Given the description of an element on the screen output the (x, y) to click on. 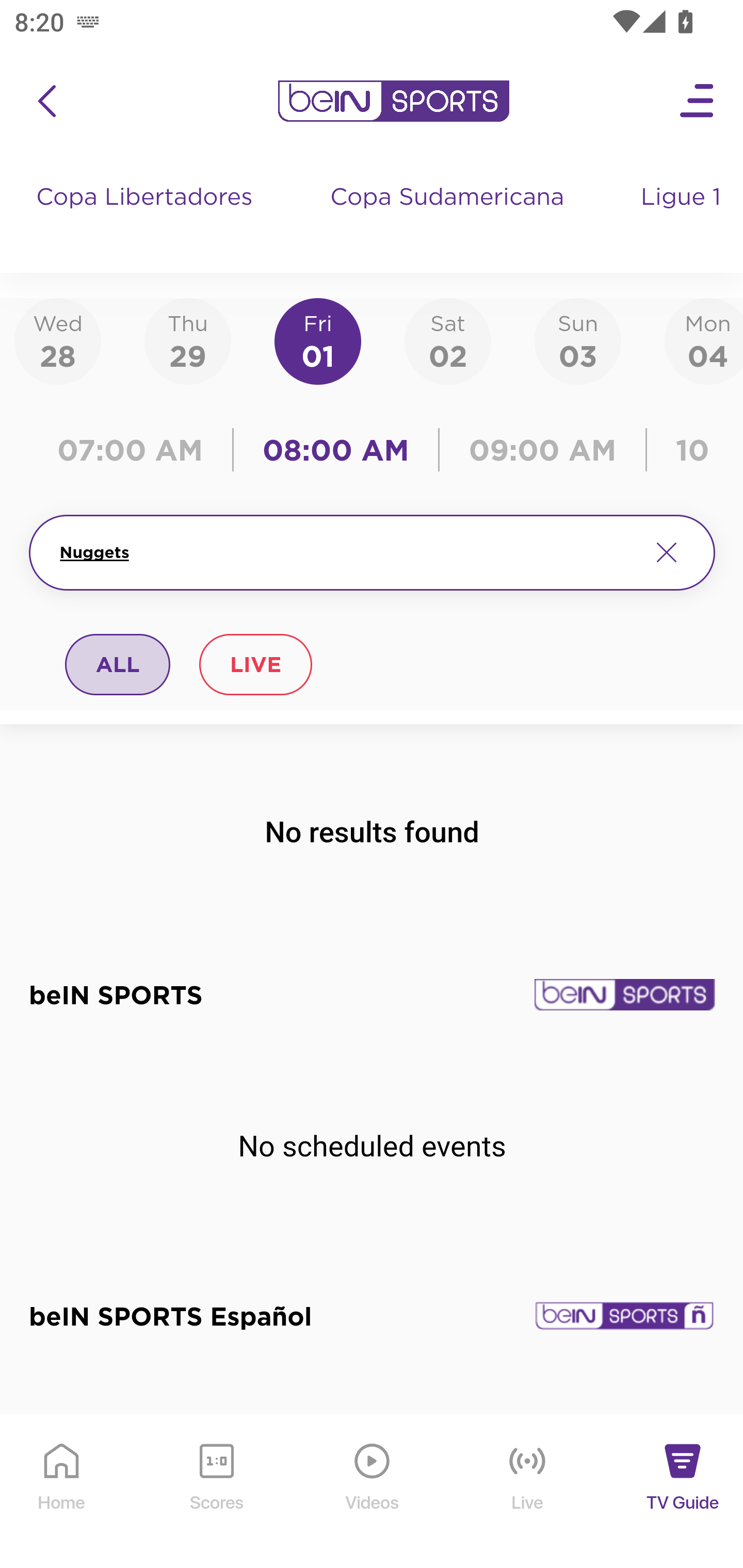
en-us?platform=mobile_android bein logo (392, 101)
icon back (46, 101)
Open Menu Icon (697, 101)
Copa Libertadores (146, 216)
Copa Sudamericana (448, 216)
Ligue 1 (682, 216)
Wed28 (58, 340)
Thu29 (187, 340)
Fri01 (318, 340)
Sat02 (447, 340)
Sun03 (578, 340)
Mon04 (703, 340)
07:00 AM (135, 449)
08:00 AM (336, 449)
09:00 AM (542, 449)
Nuggets (346, 552)
ALL (118, 663)
LIVE (255, 663)
Home Home Icon Home (61, 1491)
Scores Scores Icon Scores (216, 1491)
Videos Videos Icon Videos (372, 1491)
TV Guide TV Guide Icon TV Guide (682, 1491)
